Given the description of an element on the screen output the (x, y) to click on. 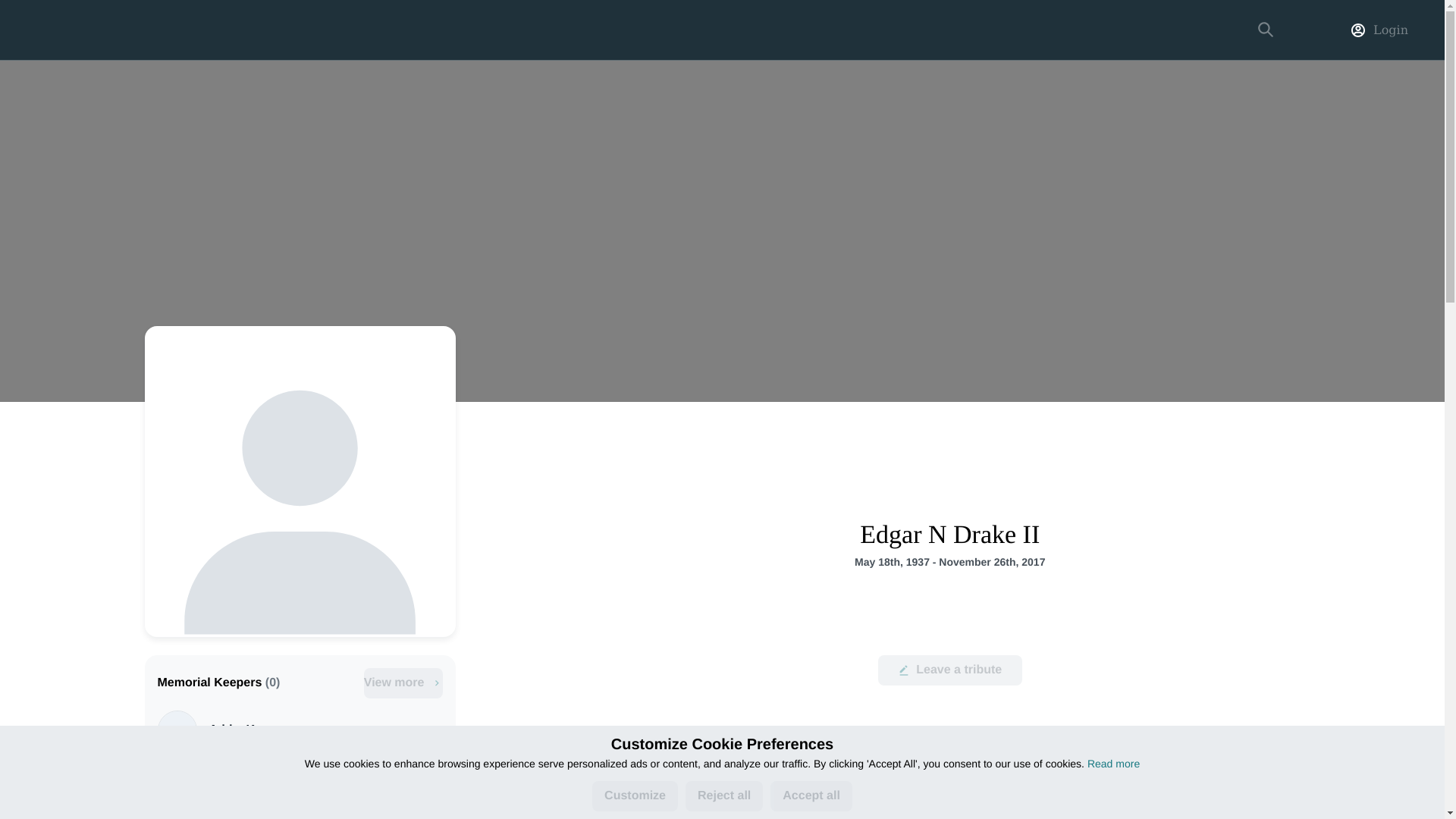
Read more (1113, 763)
Customize (635, 796)
Memorial (722, 806)
Accept all (810, 796)
Reject all (723, 796)
View more (403, 683)
Login (1390, 30)
Leave a tribute (949, 670)
